Given the description of an element on the screen output the (x, y) to click on. 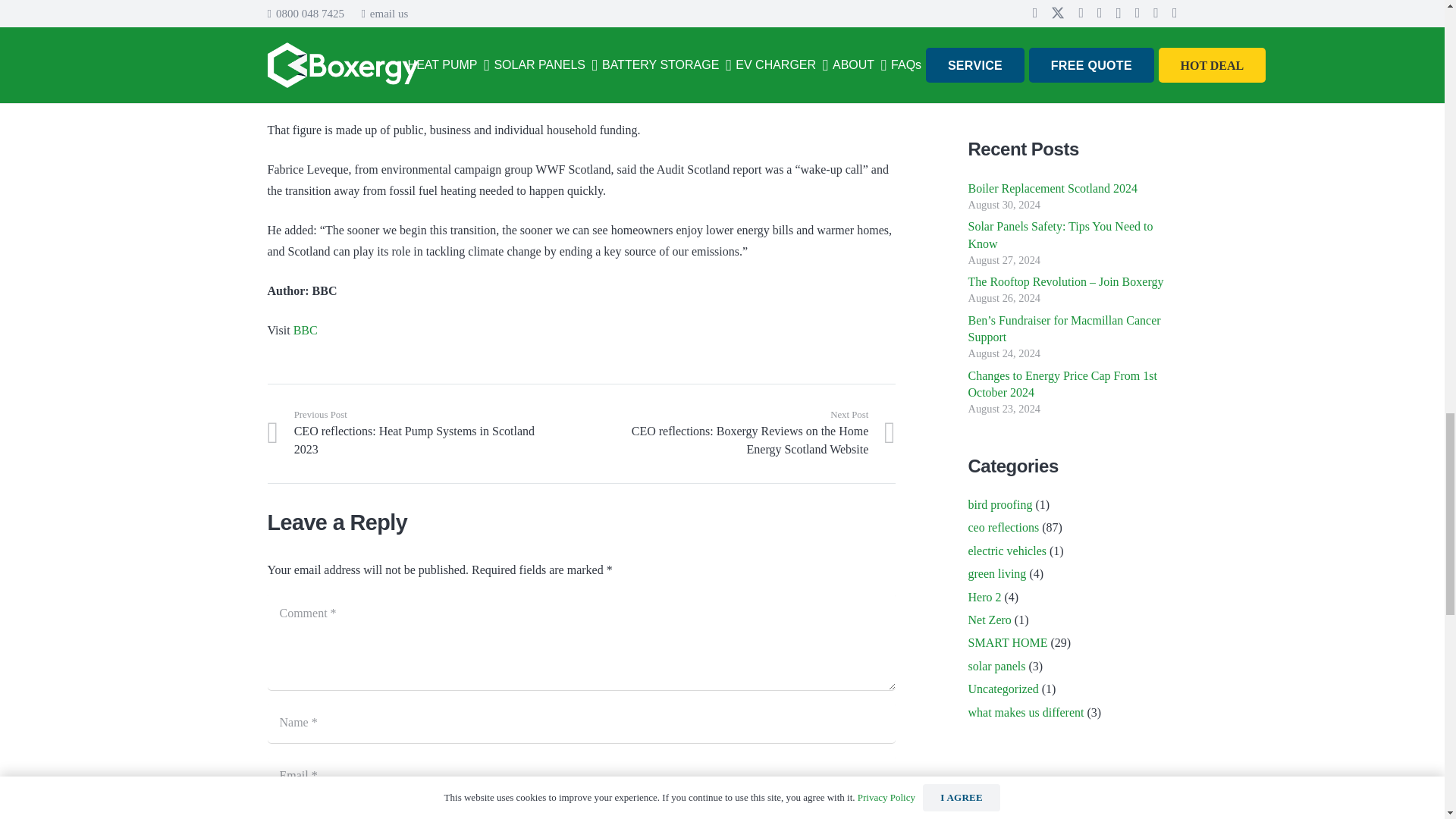
1 (273, 816)
CEO reflections: Heat Pump Systems in Scotland 2023 (423, 432)
